Given the description of an element on the screen output the (x, y) to click on. 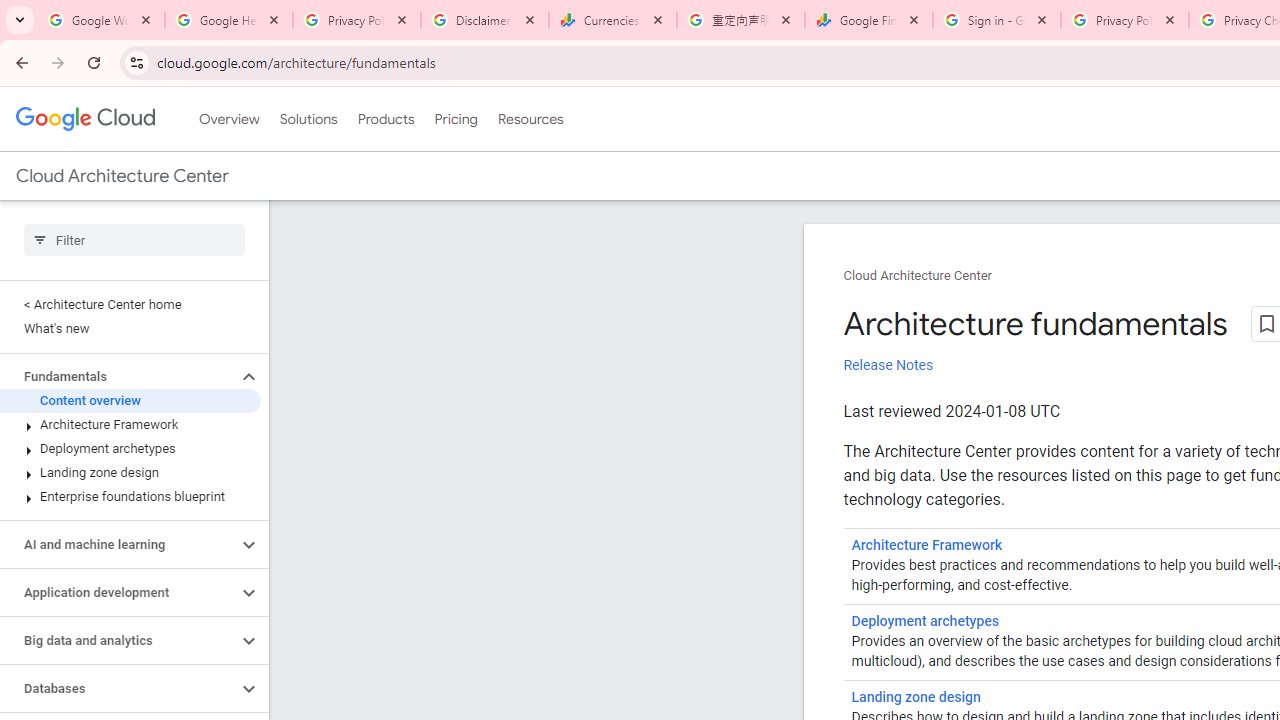
Landing zone design (130, 472)
Enterprise foundations blueprint (130, 497)
Deployment archetypes (924, 621)
Products (385, 119)
Landing zone design (915, 697)
Databases (118, 688)
Pricing (455, 119)
